Given the description of an element on the screen output the (x, y) to click on. 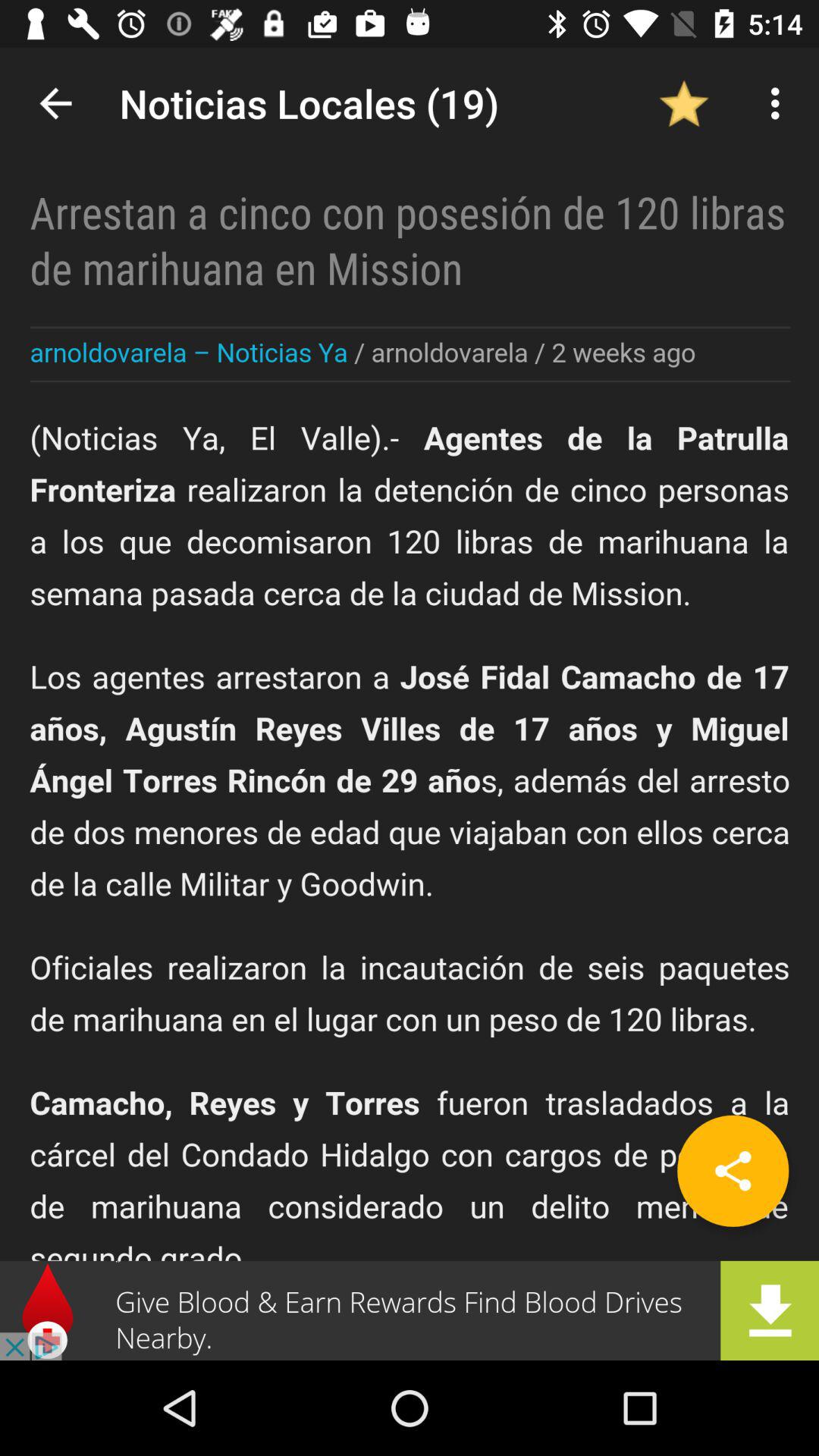
share the content (733, 1171)
